Given the description of an element on the screen output the (x, y) to click on. 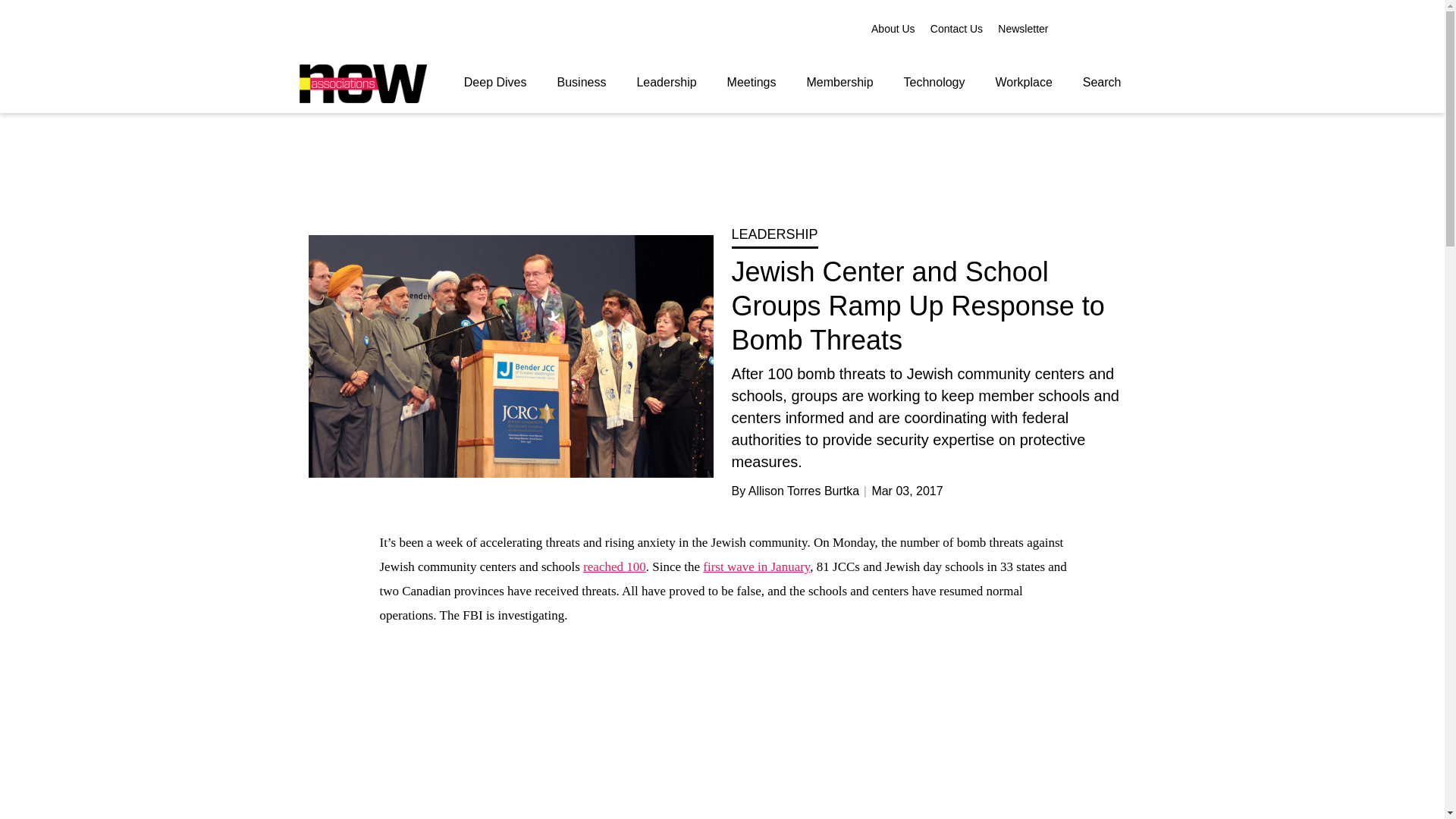
Contact Us (956, 28)
Deep Dives (494, 82)
LinkedIn (1129, 27)
Visit us onTwitter (1080, 27)
Technology (933, 82)
first wave in January (756, 566)
Twitter (1080, 27)
Workplace (1023, 82)
Membership (840, 82)
Meetings (751, 82)
